Given the description of an element on the screen output the (x, y) to click on. 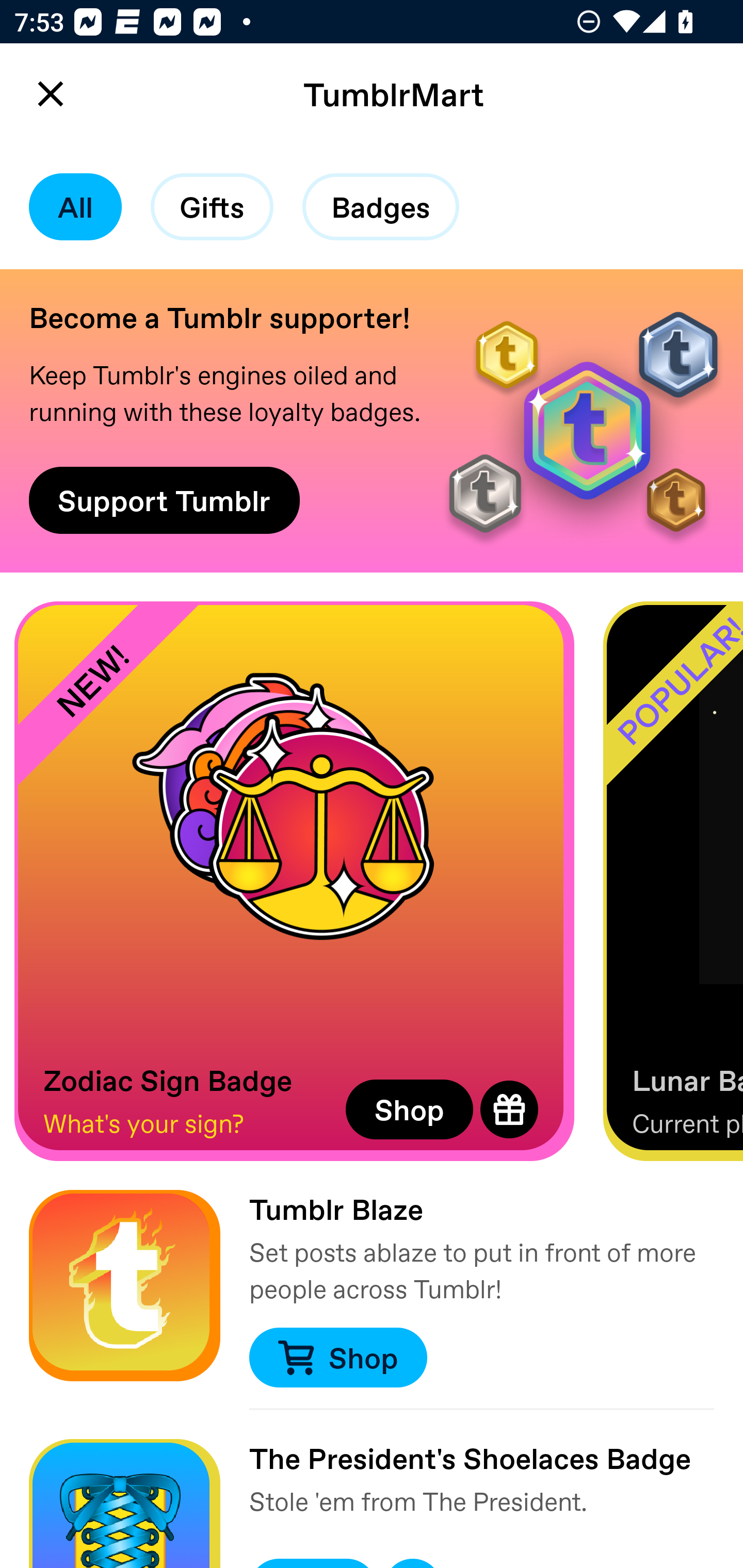
All (74, 206)
Gifts (211, 206)
Badges (380, 206)
Support Tumblr (163, 500)
NEW! Zodiac Sign Badge What's your sign? Shop (294, 881)
Shop (409, 1108)
Shop (337, 1357)
